Given the description of an element on the screen output the (x, y) to click on. 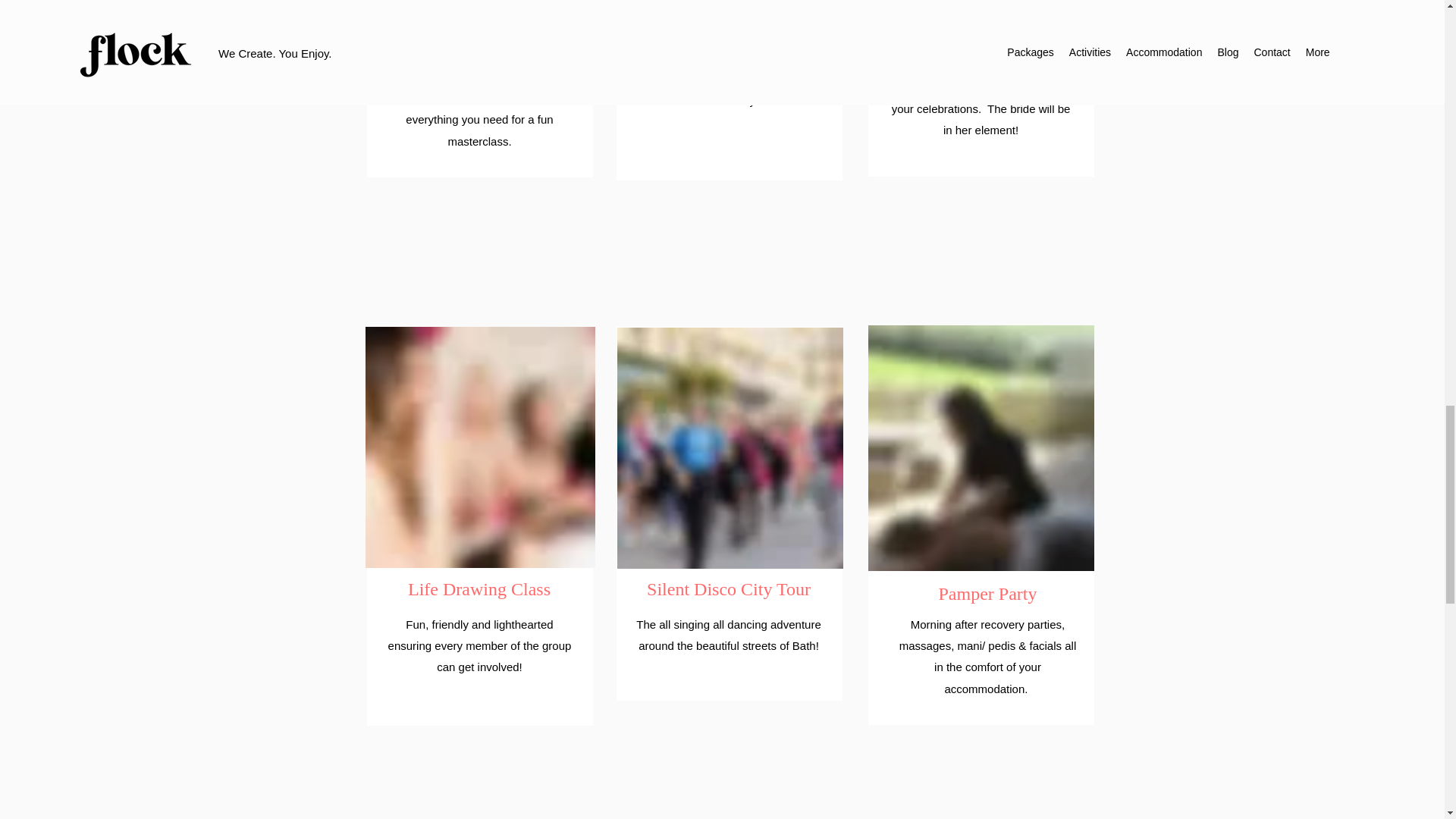
FOODIE ARCH.jpg (980, 12)
FOODIE ARCH.jpg (980, 447)
THRILL SEEKER ARCH.jpg (480, 447)
CULTURE ARCH.jpg (728, 11)
THRILL SEEKER ARCH.jpg (480, 11)
CULTURE ARCH.jpg (730, 447)
